Given the description of an element on the screen output the (x, y) to click on. 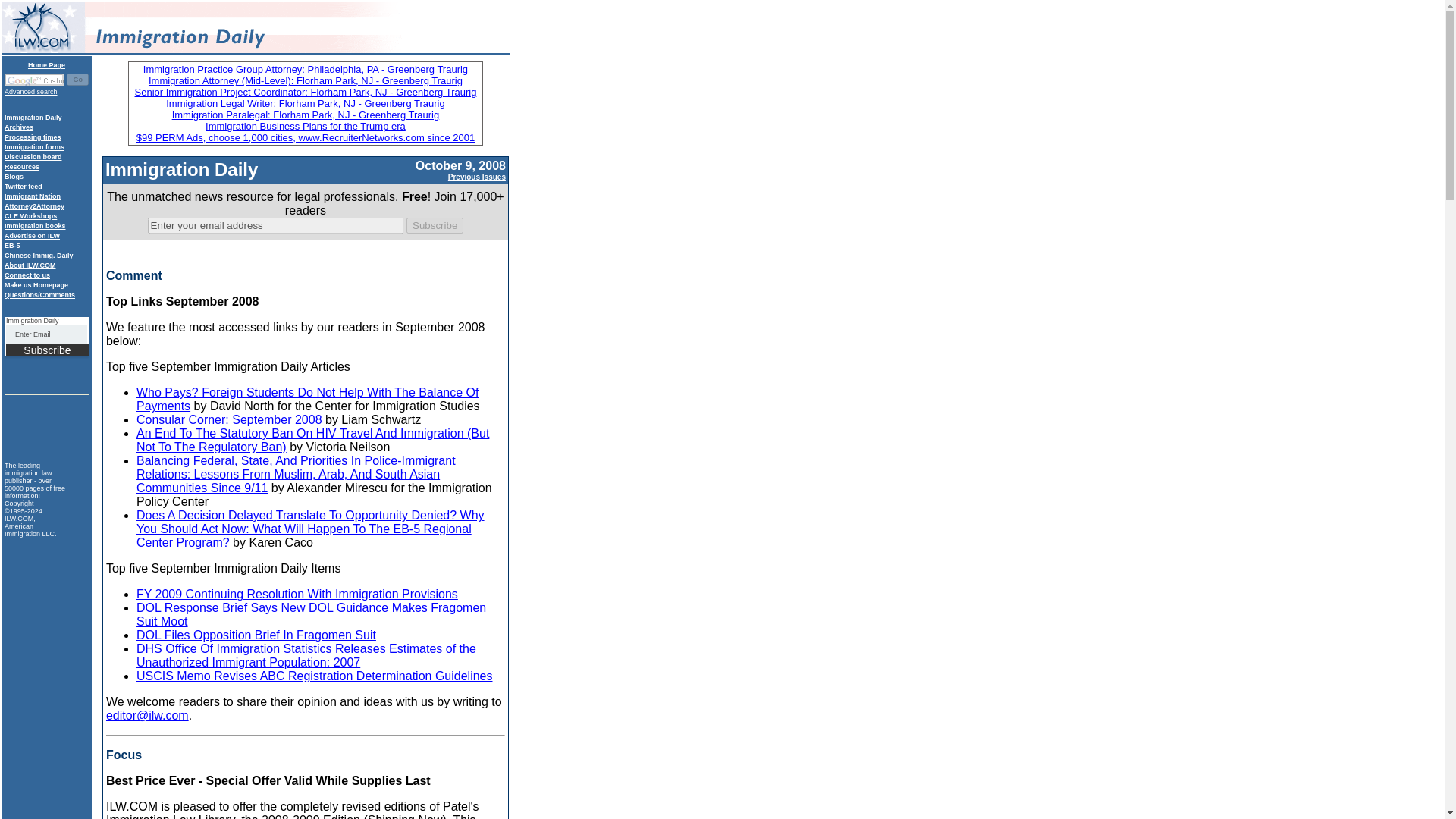
Subscribe (434, 225)
Immigrant Nation (32, 195)
Enter your email address (275, 225)
About ILW.COM (30, 265)
Immigration books (34, 225)
Immigration forms (34, 146)
Make us Homepage (36, 285)
Connect to us (26, 275)
